Given the description of an element on the screen output the (x, y) to click on. 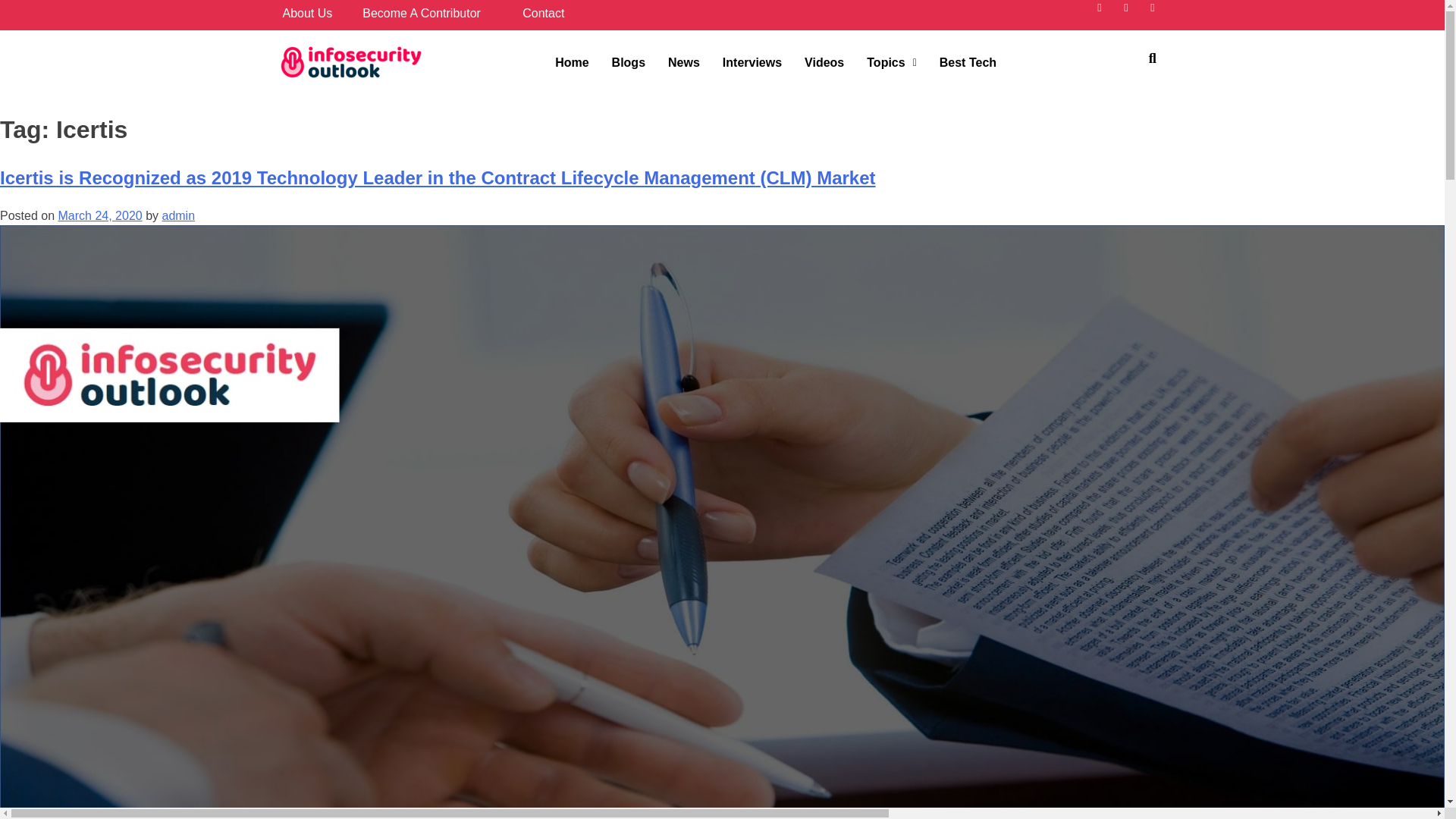
Become A Contributor (421, 12)
Interviews (752, 62)
admin (178, 215)
Contact (543, 12)
Videos (824, 62)
News (683, 62)
Blogs (627, 62)
Best Tech (967, 62)
March 24, 2020 (99, 215)
Home (571, 62)
About Us (306, 12)
Topics (892, 62)
